Given the description of an element on the screen output the (x, y) to click on. 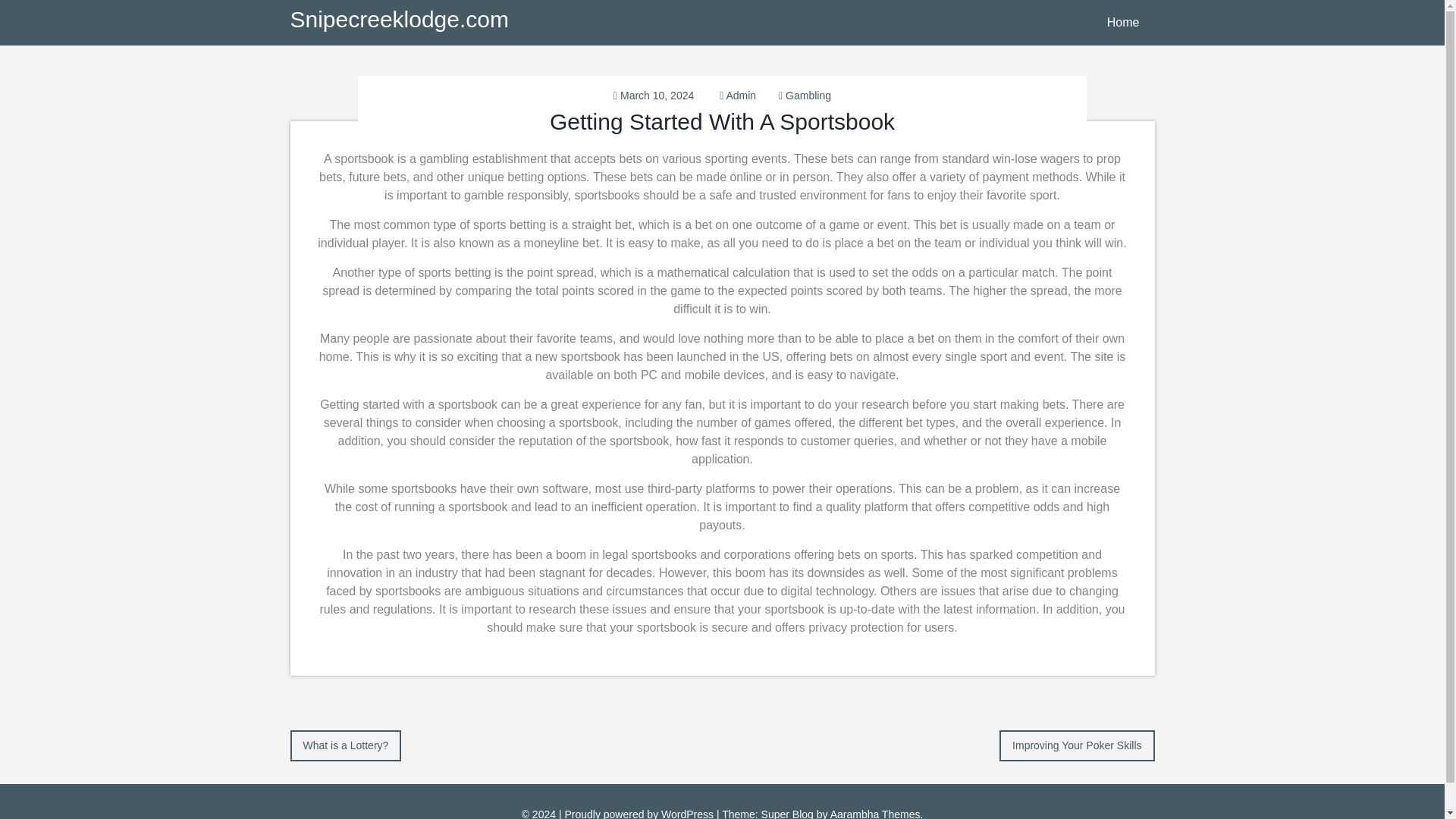
March 10, 2024 (657, 95)
Admin (740, 95)
WordPress (687, 813)
Improving Your Poker Skills (1076, 744)
Snipecreeklodge.com (398, 18)
What is a Lottery? (345, 744)
Aarambha Themes (874, 813)
Gambling (808, 95)
